Given the description of an element on the screen output the (x, y) to click on. 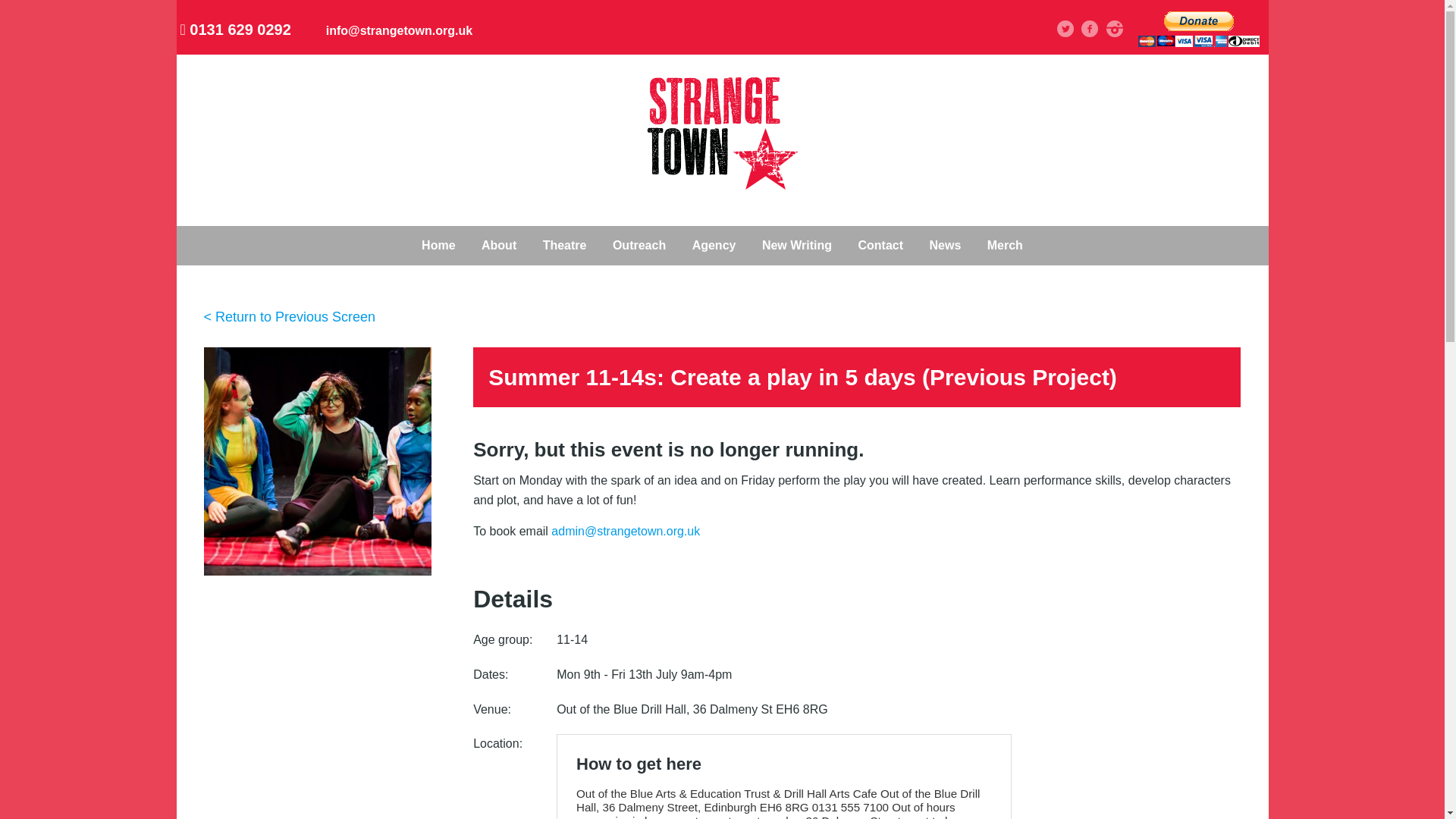
Twitter (1065, 28)
facebook (1089, 28)
instagram (1114, 28)
Theatre (564, 246)
Merch (1004, 246)
About (498, 246)
News (944, 246)
Agency (714, 246)
Contact (879, 246)
Go to Home (721, 184)
PayPal - The safer, easier way to pay online! (1198, 28)
New Writing (797, 246)
Home (437, 246)
Outreach (639, 246)
